Given the description of an element on the screen output the (x, y) to click on. 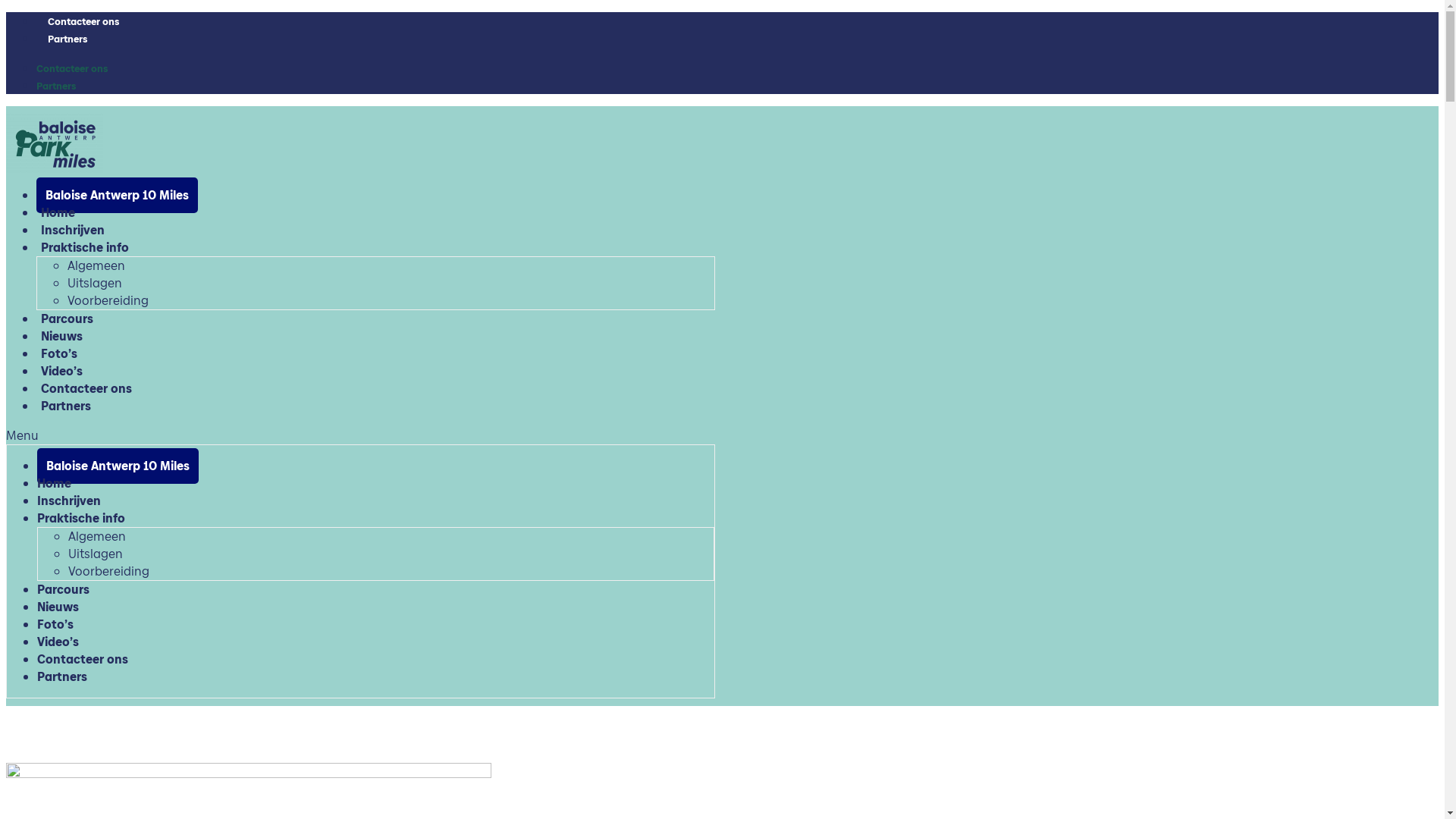
Uitslagen Element type: text (94, 282)
Home Element type: text (54, 483)
Voorbereiding Element type: text (108, 571)
Algemeen Element type: text (96, 265)
Parcours Element type: text (63, 589)
Praktische info Element type: text (81, 518)
Nieuws Element type: text (57, 606)
Contacteer ons Element type: text (83, 21)
Baloise Antwerp 10 Miles Element type: text (117, 465)
Parcours Element type: text (66, 318)
Nieuws Element type: text (61, 336)
Partners Element type: text (65, 405)
Contacteer ons Element type: text (71, 68)
Partners Element type: text (55, 85)
Inschrijven Element type: text (72, 229)
Algemeen Element type: text (96, 536)
Inschrijven Element type: text (68, 500)
Baloise Antwerp 10 Miles Element type: text (116, 195)
Voorbereiding Element type: text (107, 300)
ParkMilas-23-Logo Element type: hover (54, 143)
Contacteer ons Element type: text (86, 388)
Partners Element type: text (62, 676)
Praktische info Element type: text (84, 247)
Uitslagen Element type: text (95, 553)
Partners Element type: text (67, 38)
Contacteer ons Element type: text (82, 659)
Home Element type: text (57, 212)
